Given the description of an element on the screen output the (x, y) to click on. 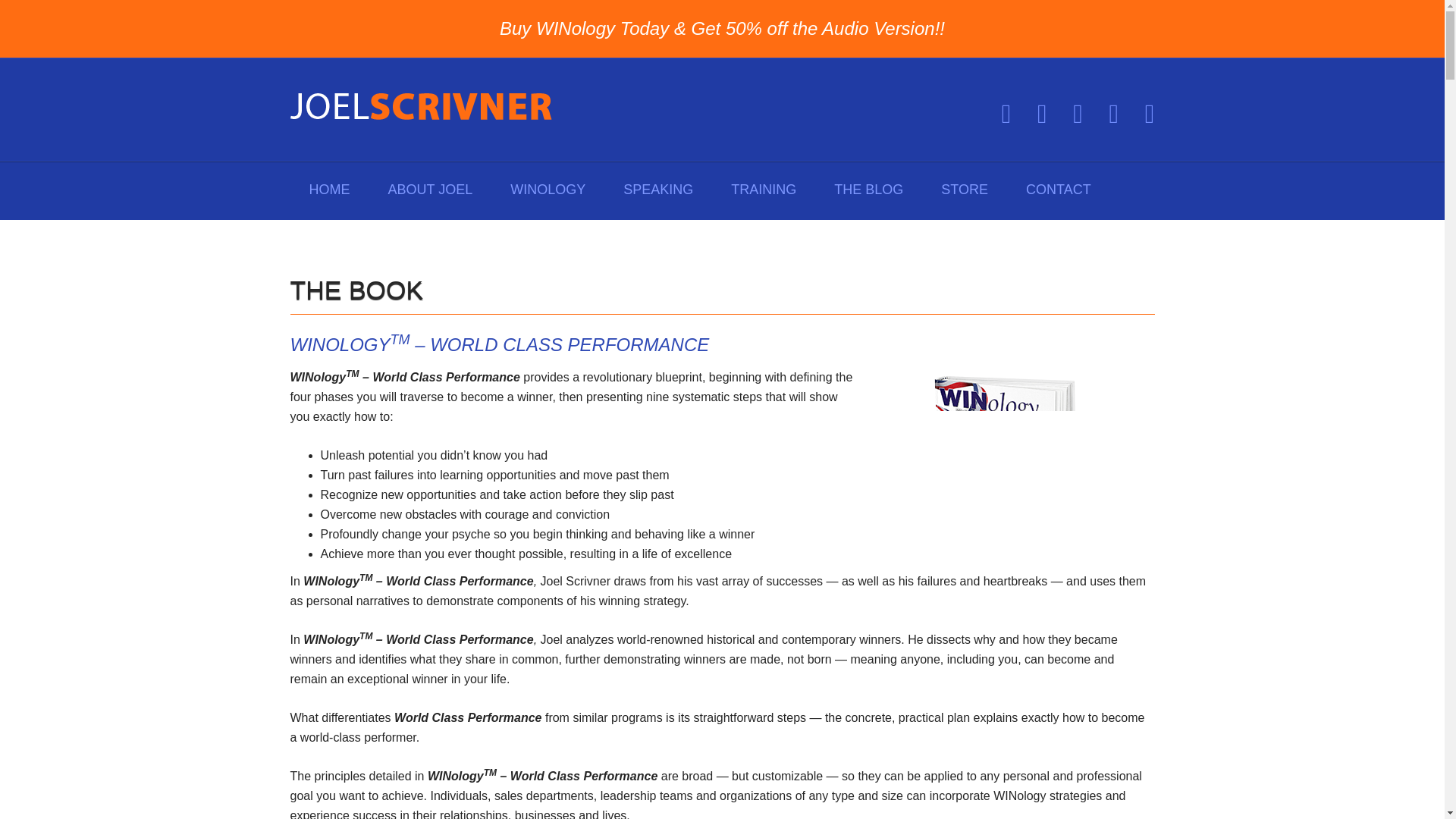
Speaking (657, 191)
TRAINING (763, 191)
HOME (328, 191)
The Blog (868, 191)
About Joel (430, 191)
Home (328, 191)
WINOLOGY (548, 191)
STORE (964, 191)
Store (964, 191)
Training (763, 191)
